Given the description of an element on the screen output the (x, y) to click on. 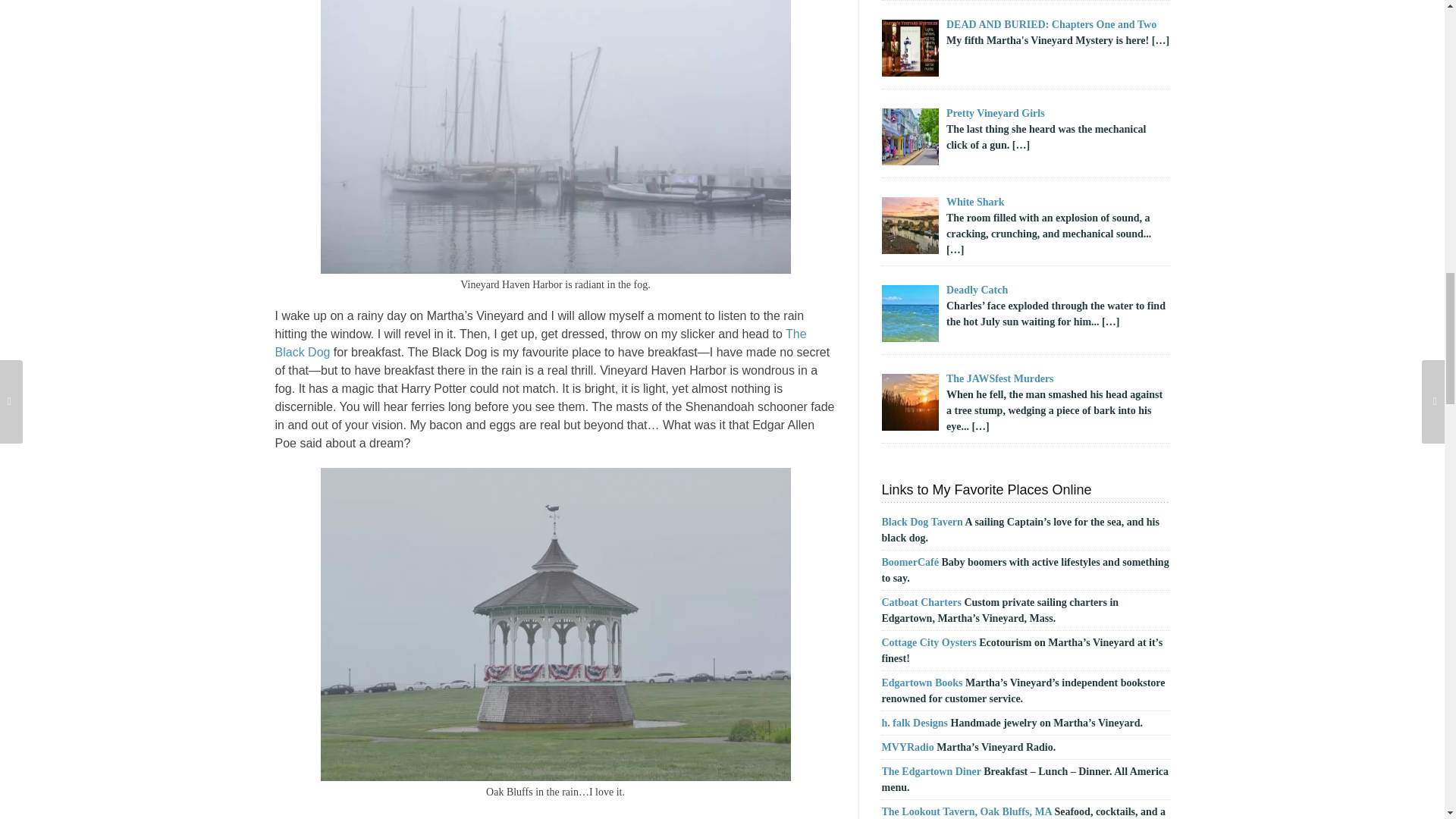
The Black Dog (540, 342)
